Given the description of an element on the screen output the (x, y) to click on. 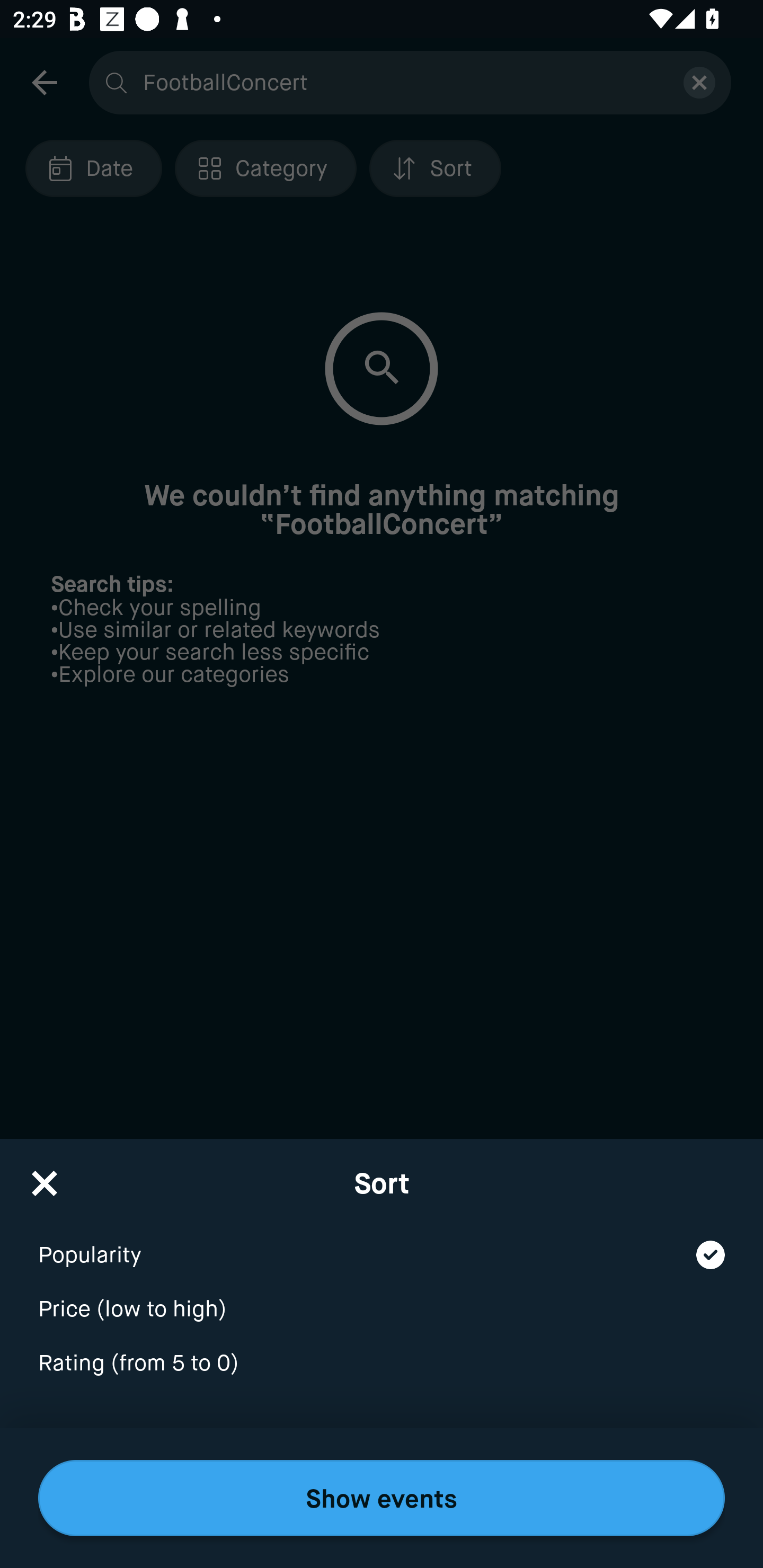
CloseButton (44, 1177)
Popularity Selected Icon (381, 1243)
Price (low to high) (381, 1297)
Rating (from 5 to 0) (381, 1362)
Show events (381, 1497)
